Given the description of an element on the screen output the (x, y) to click on. 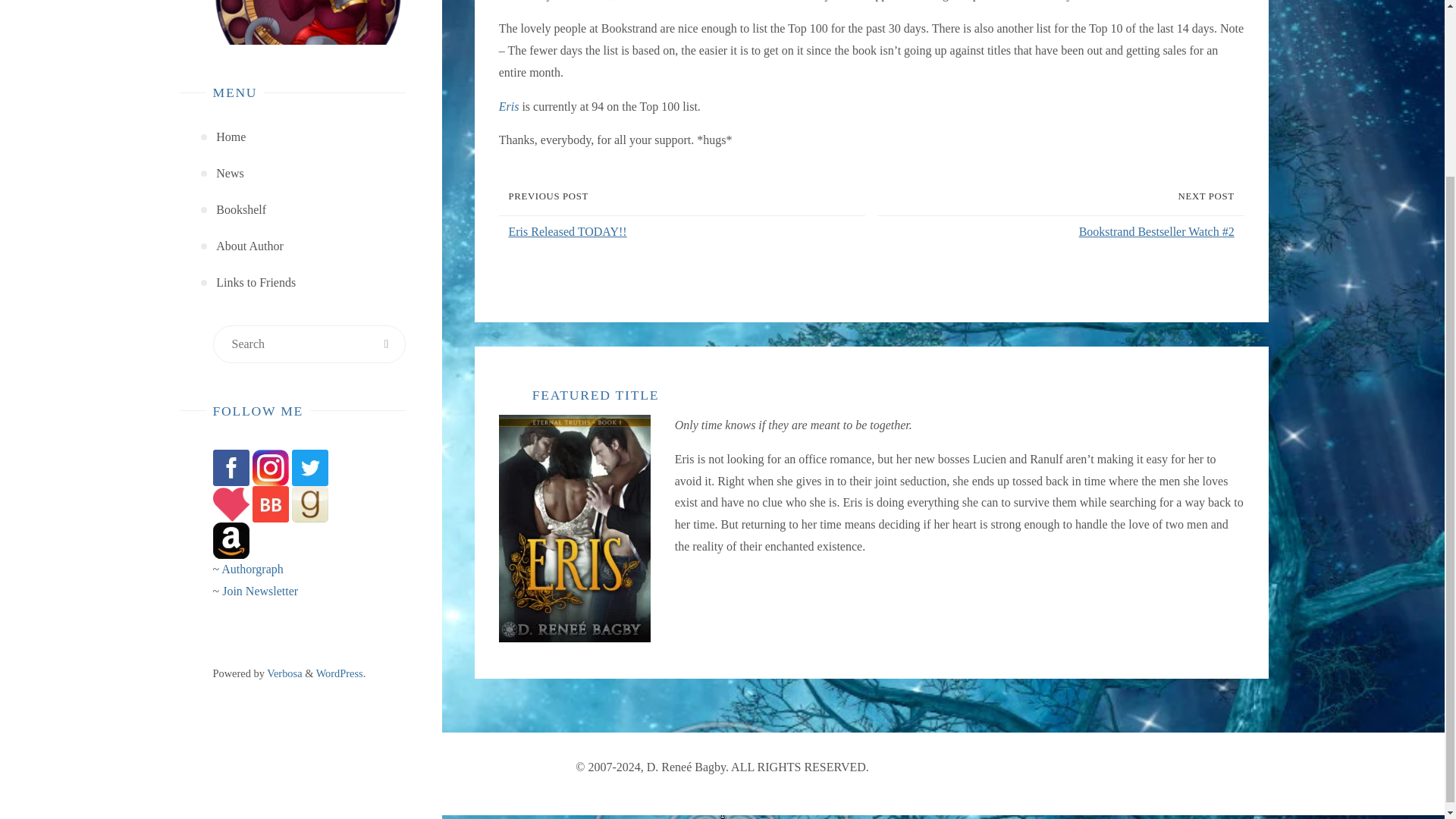
Verbosa WordPress Theme by Cryout Creations (283, 673)
Eris Released TODAY!! (684, 232)
Bookshelf (240, 209)
WordPress (338, 673)
Search (386, 343)
Authorgraph (251, 568)
About Author (248, 246)
Verbosa (283, 673)
Join Newsletter (260, 590)
Links to Friends (255, 282)
Eris (509, 106)
Semantic Personal Publishing Platform (338, 673)
